Given the description of an element on the screen output the (x, y) to click on. 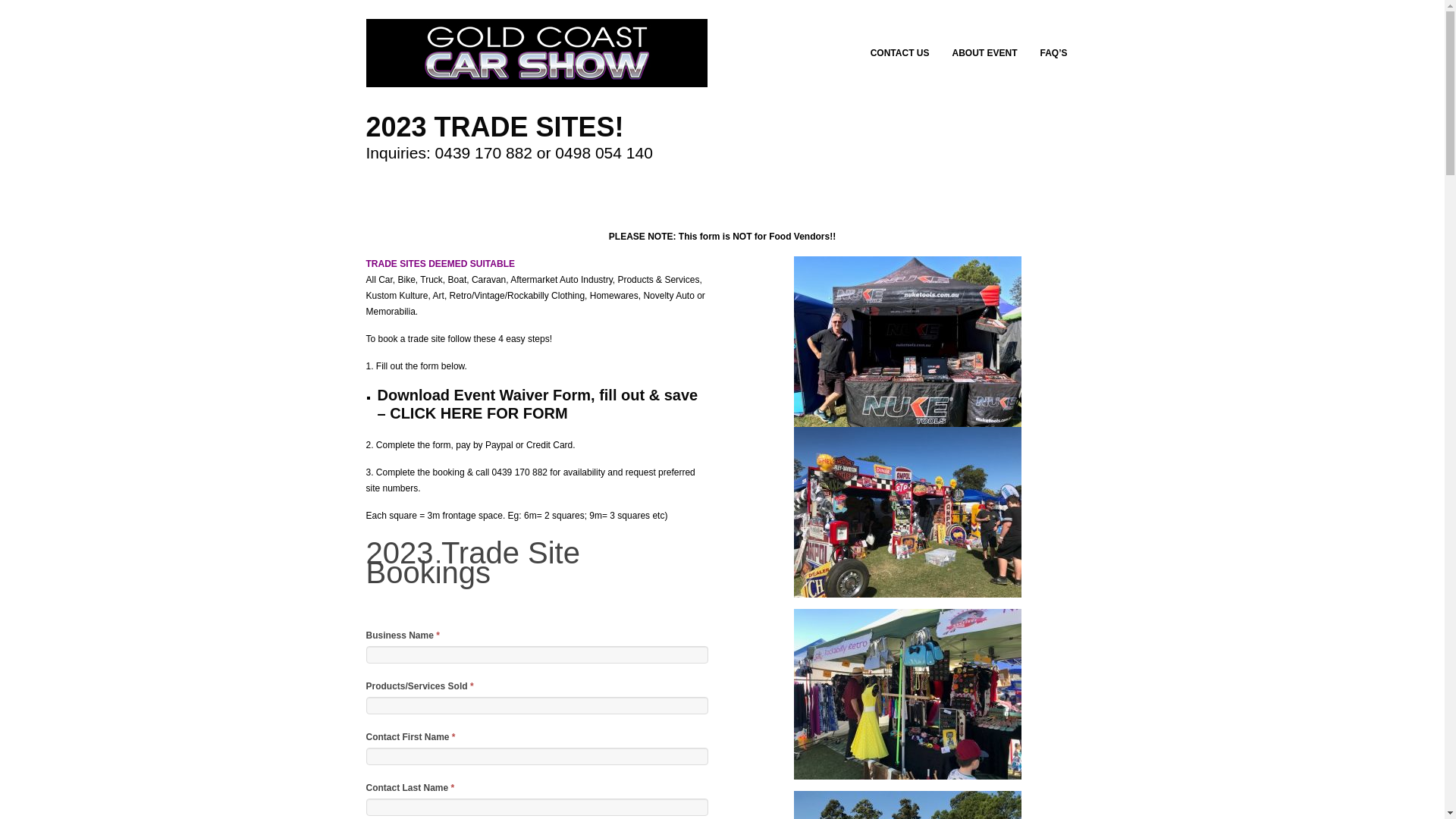
CONTACT US Element type: text (905, 53)
CLICK HERE FOR FORM Element type: text (478, 412)
ABOUT EVENT Element type: text (989, 53)
